Given the description of an element on the screen output the (x, y) to click on. 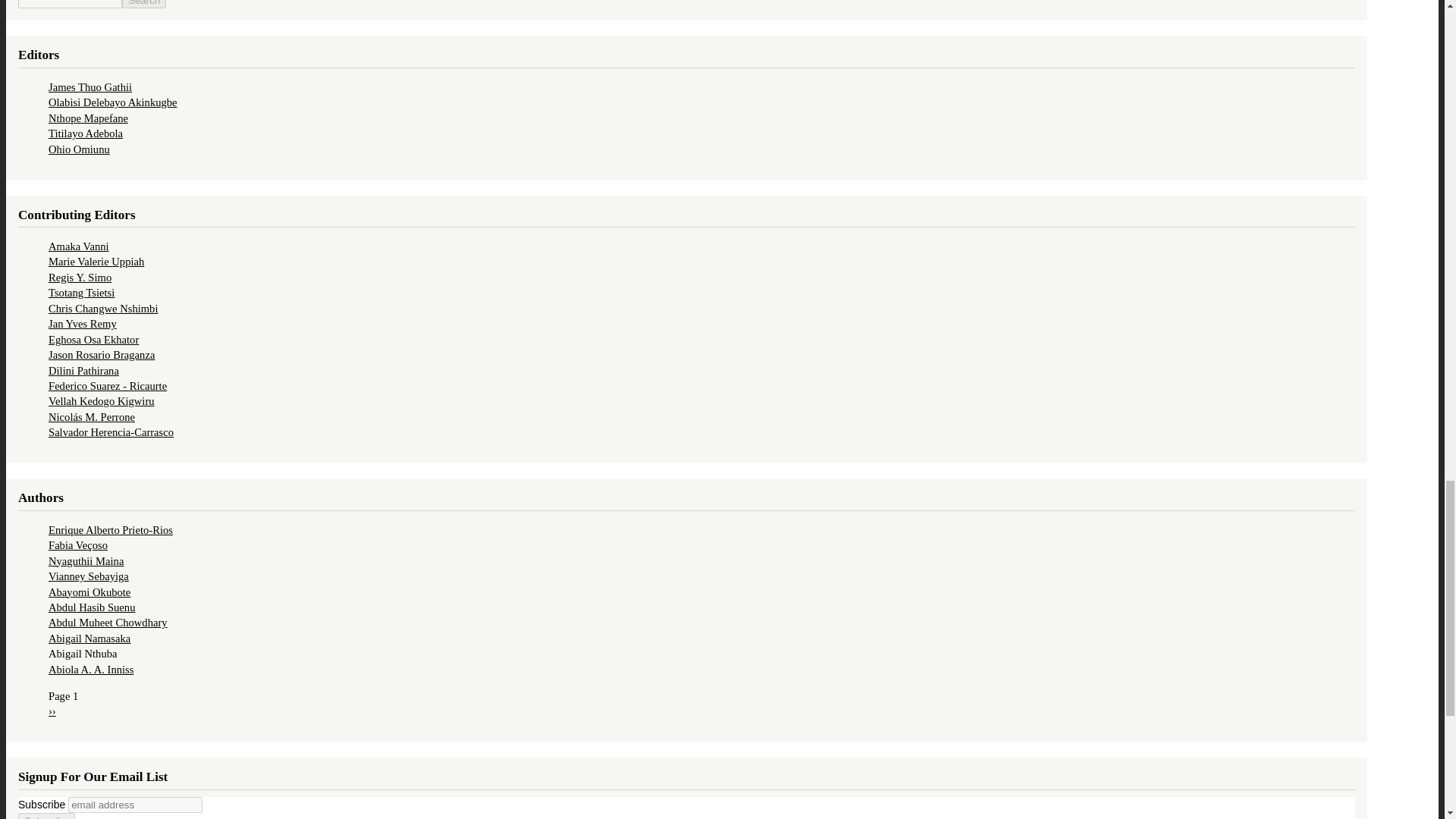
Subscribe (46, 816)
Enter the terms you wish to search for. (69, 4)
